Given the description of an element on the screen output the (x, y) to click on. 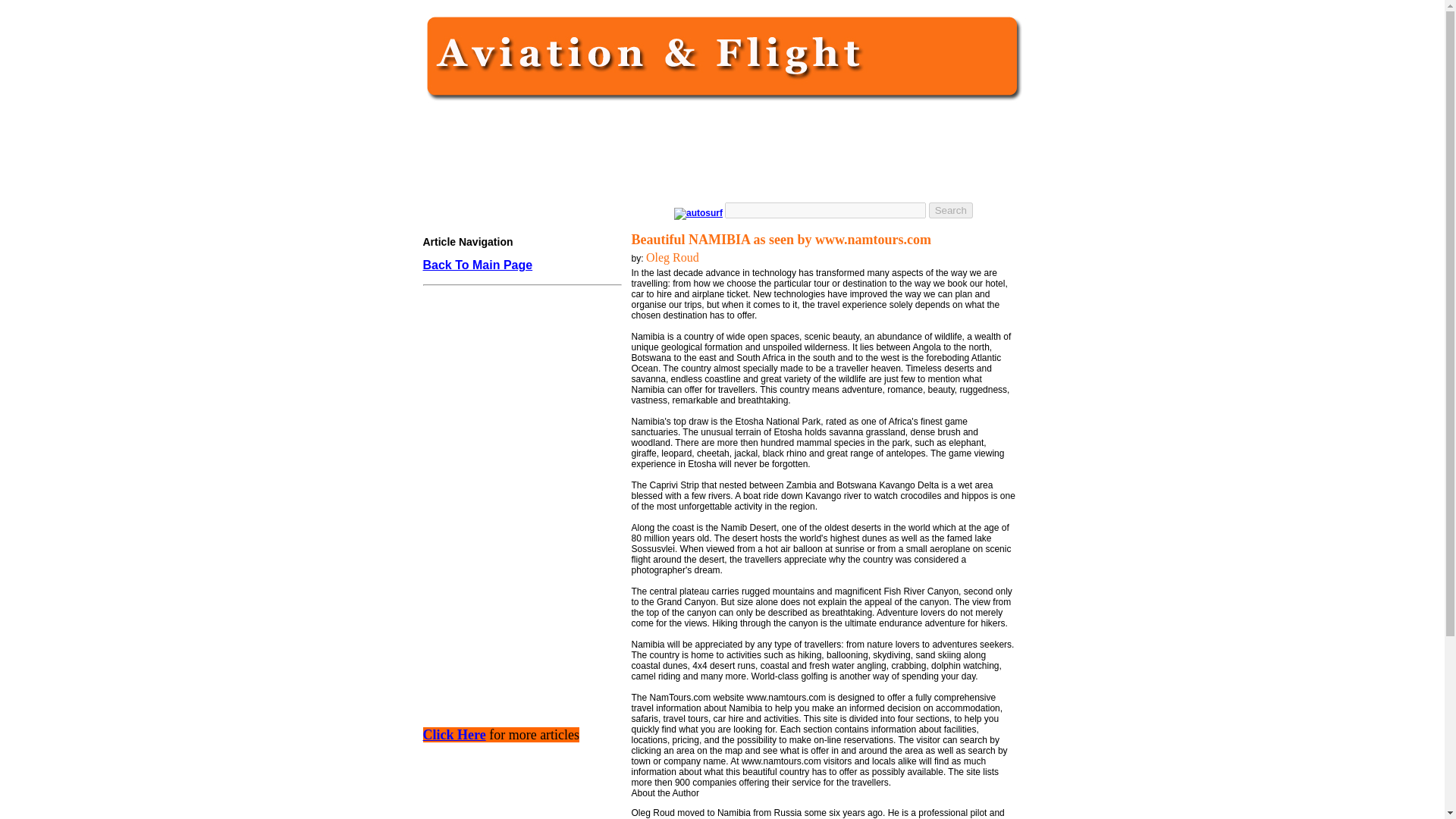
Click Here (454, 735)
Search (950, 210)
Back To Main Page (477, 265)
Advertisement (718, 152)
Search (950, 210)
Advertisement (517, 594)
